Given the description of an element on the screen output the (x, y) to click on. 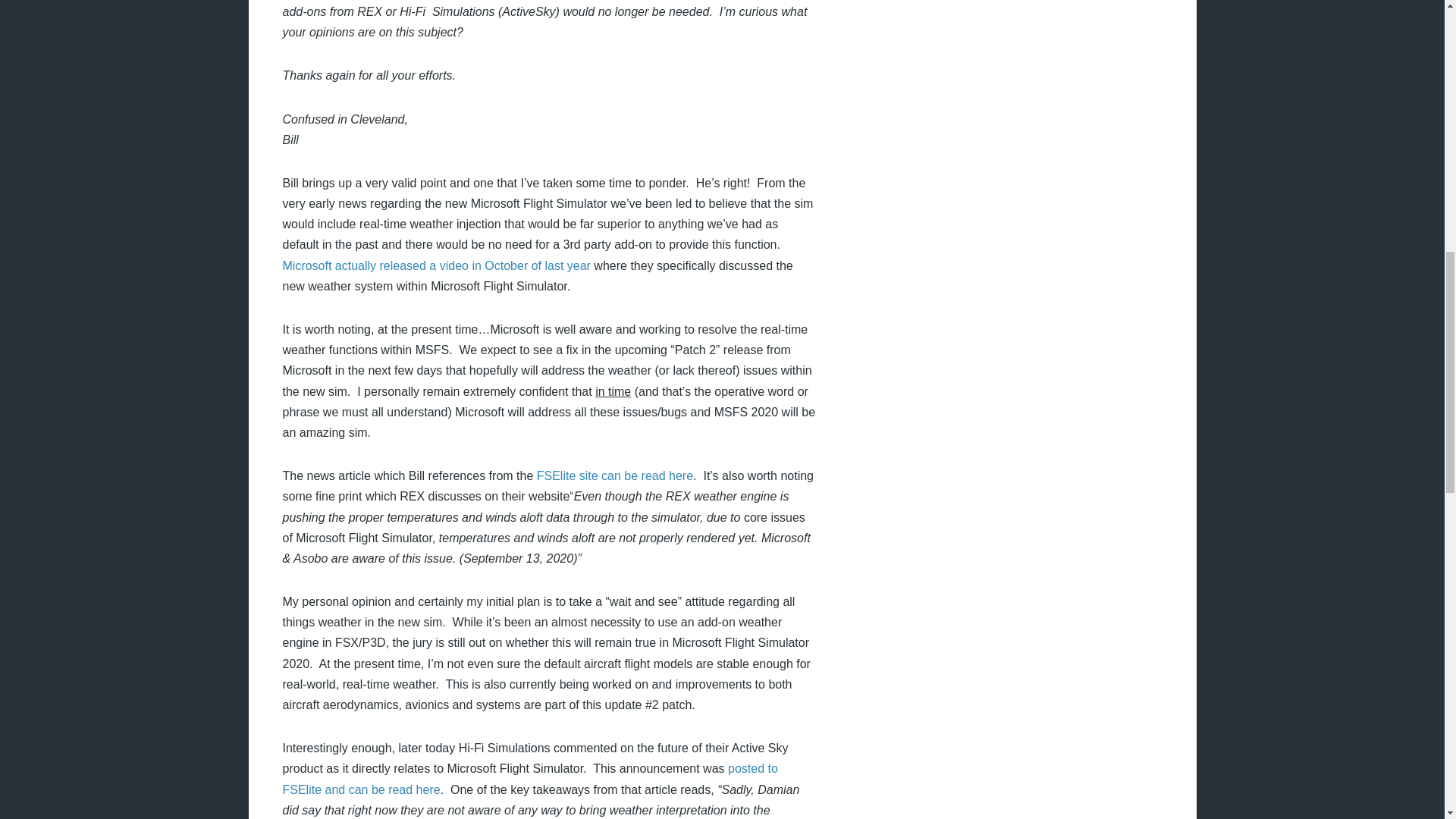
Microsoft actually released a video in October of last year (435, 265)
FSElite site can be read here (615, 475)
posted to FSElite and can be read here (529, 778)
